Given the description of an element on the screen output the (x, y) to click on. 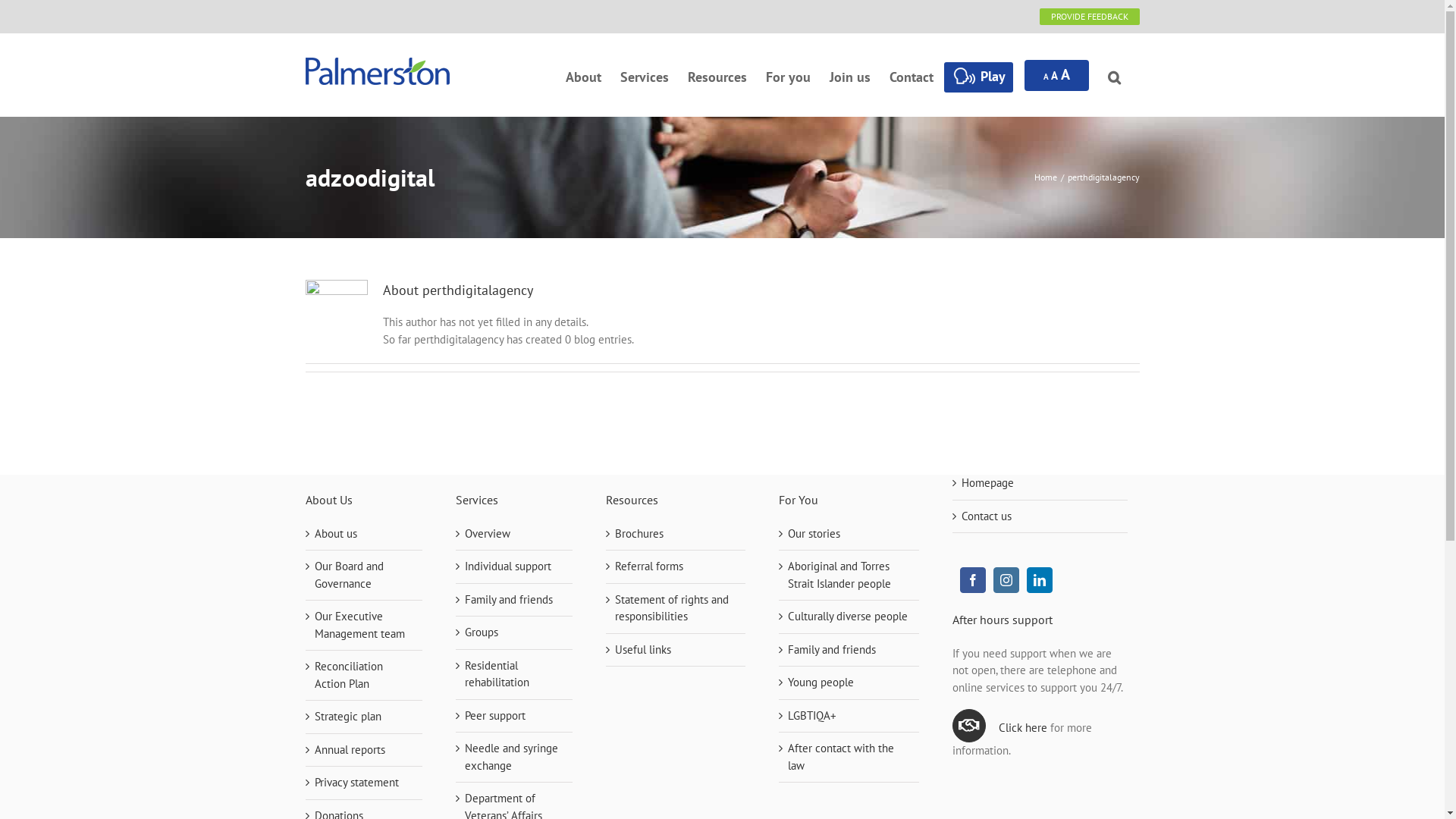
Resources Element type: text (716, 75)
Peer support Element type: text (494, 715)
Annual reports Element type: text (348, 749)
Useful links Element type: text (642, 649)
Play Element type: text (978, 75)
Privacy statement Element type: text (355, 782)
Click here Element type: text (1022, 727)
After contact with the law Element type: text (840, 756)
A
Decrease font size. Element type: text (1045, 76)
Aboriginal and Torres Strait Islander people Element type: text (839, 574)
For you Element type: text (787, 75)
Homepage Element type: text (987, 482)
Groups Element type: text (480, 631)
Reconciliation Action Plan Element type: text (347, 674)
Culturally diverse people Element type: text (847, 615)
A
Increase font size. Element type: text (1064, 72)
About us Element type: text (334, 533)
Family and friends Element type: text (831, 649)
About Element type: text (583, 75)
PROVIDE FEEDBACK Element type: text (1088, 16)
Residential rehabilitation Element type: text (496, 674)
Our Executive Management team Element type: text (358, 624)
Overview Element type: text (486, 533)
Join us Element type: text (849, 75)
LGBTIQA+ Element type: text (811, 715)
Young people Element type: text (820, 681)
A
Reset font size. Element type: text (1054, 75)
Contact us Element type: text (986, 515)
Individual support Element type: text (507, 565)
Referral forms Element type: text (648, 565)
Statement of rights and responsibilities Element type: text (671, 608)
Our Board and Governance Element type: text (347, 574)
Strategic plan Element type: text (346, 716)
Search Element type: hover (1113, 75)
Services Element type: text (644, 75)
Brochures Element type: text (638, 533)
Home Element type: text (1045, 176)
Needle and syringe exchange Element type: text (510, 756)
Contact Element type: text (910, 75)
Our stories Element type: text (813, 533)
Family and friends Element type: text (508, 599)
